Given the description of an element on the screen output the (x, y) to click on. 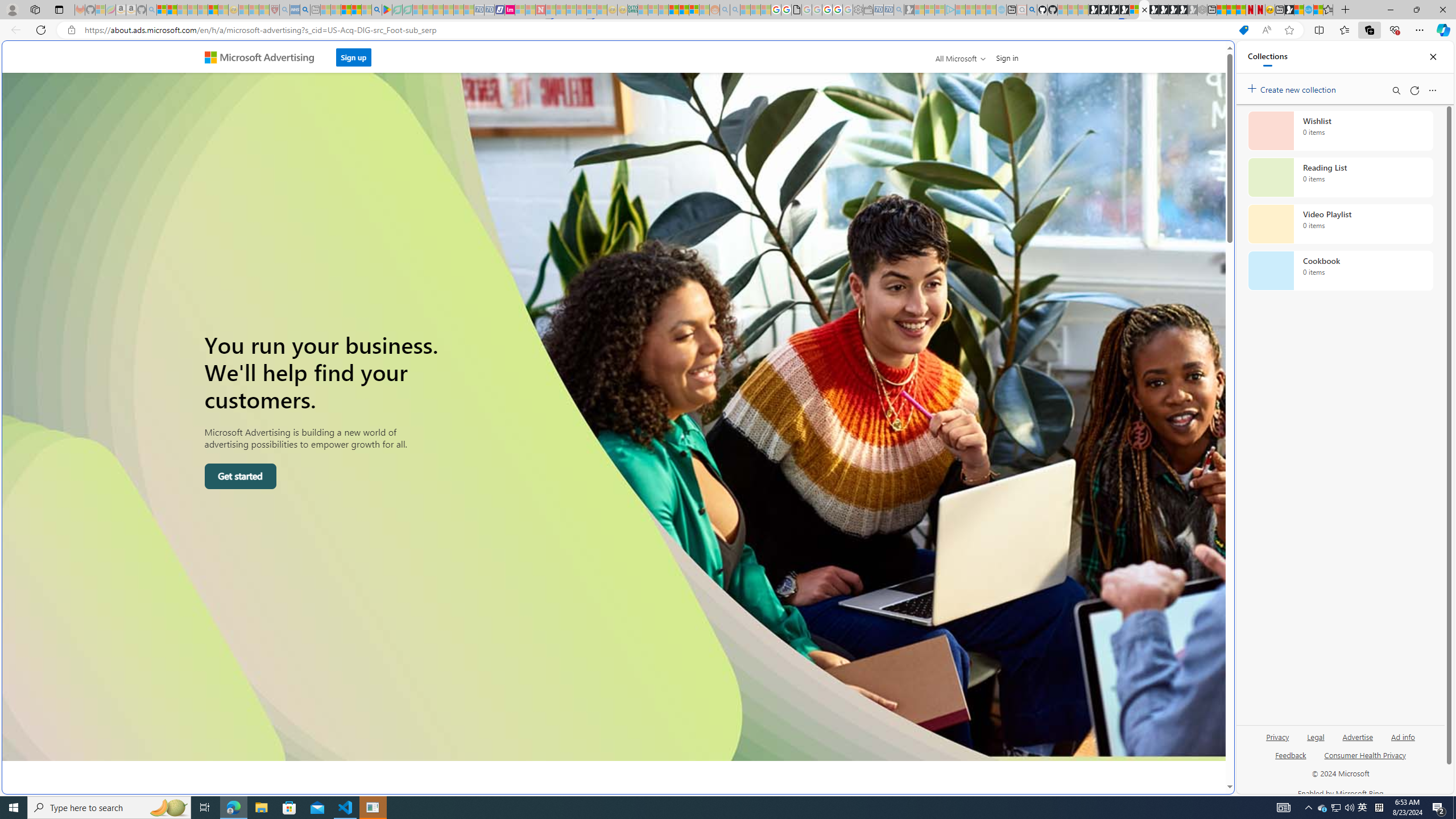
utah sues federal government - Search (304, 9)
